Given the description of an element on the screen output the (x, y) to click on. 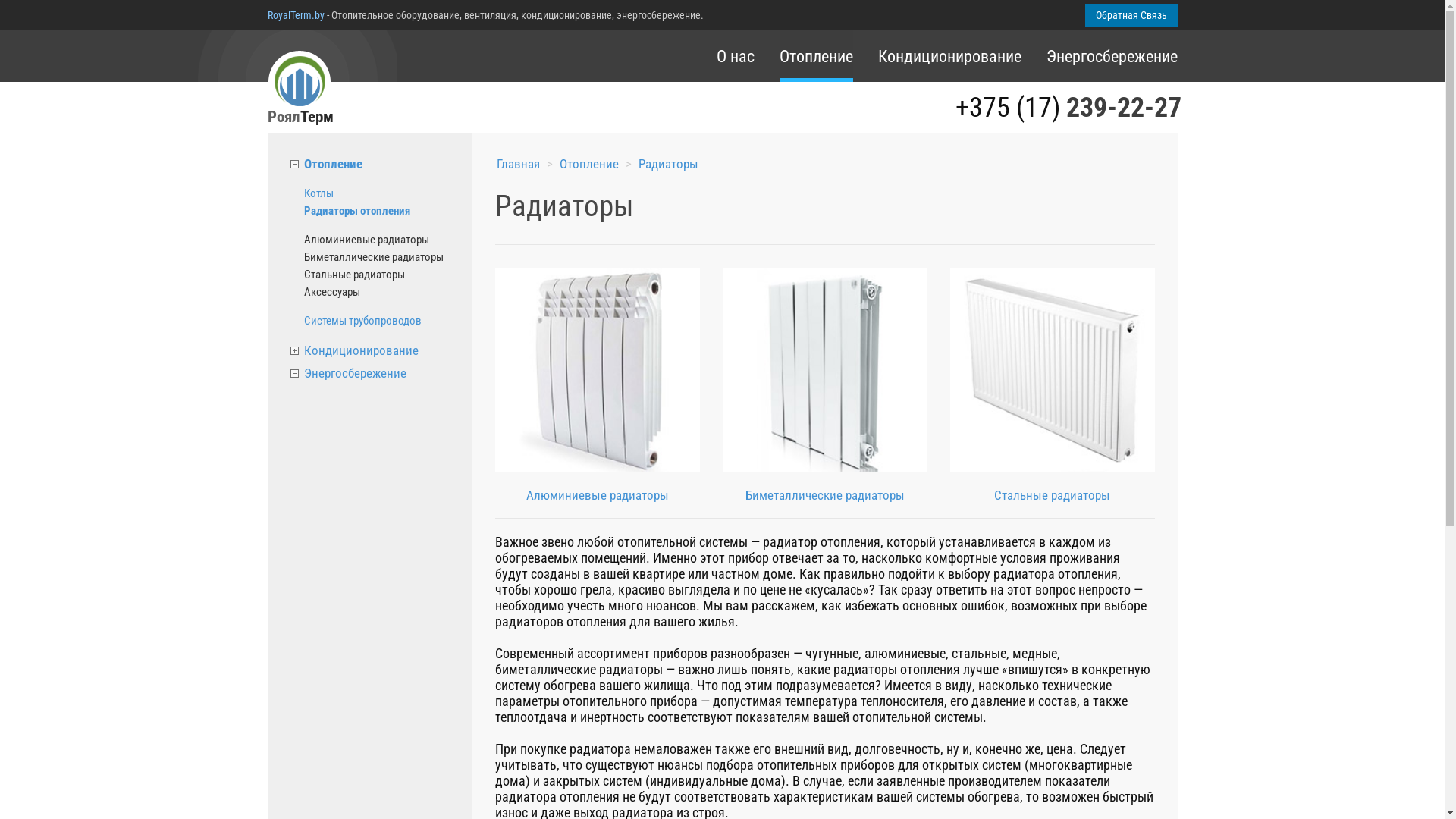
RoyalTerm.by Element type: text (294, 15)
